Given the description of an element on the screen output the (x, y) to click on. 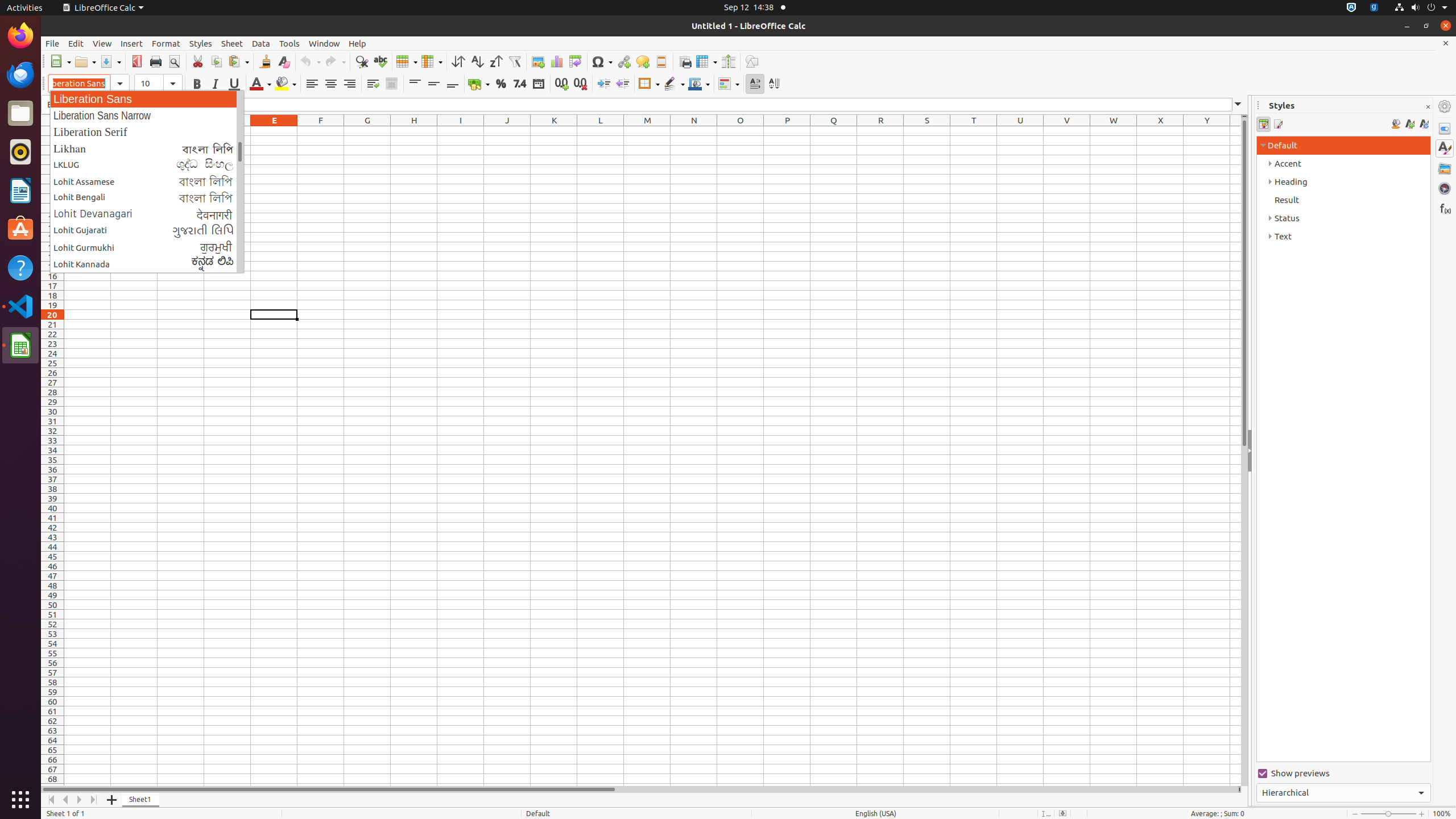
Fill Format Mode Element type: push-button (1395, 123)
R1 Element type: table-cell (880, 130)
Open Element type: push-button (84, 61)
N1 Element type: table-cell (693, 130)
Align Top Element type: push-button (414, 83)
